Given the description of an element on the screen output the (x, y) to click on. 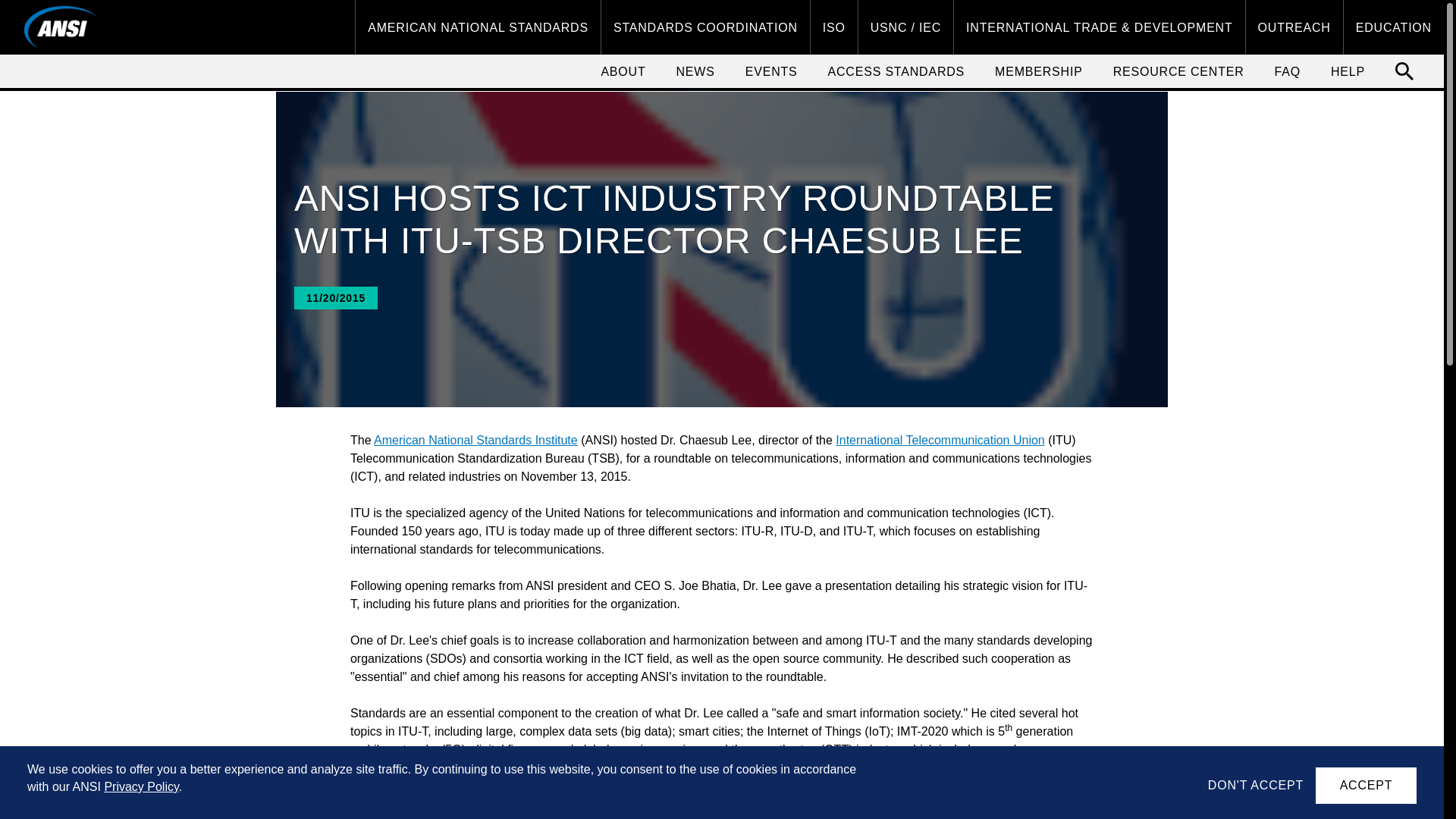
AMERICAN NATIONAL STANDARDS (477, 27)
STANDARDS COORDINATION (705, 27)
Home (60, 26)
